Given the description of an element on the screen output the (x, y) to click on. 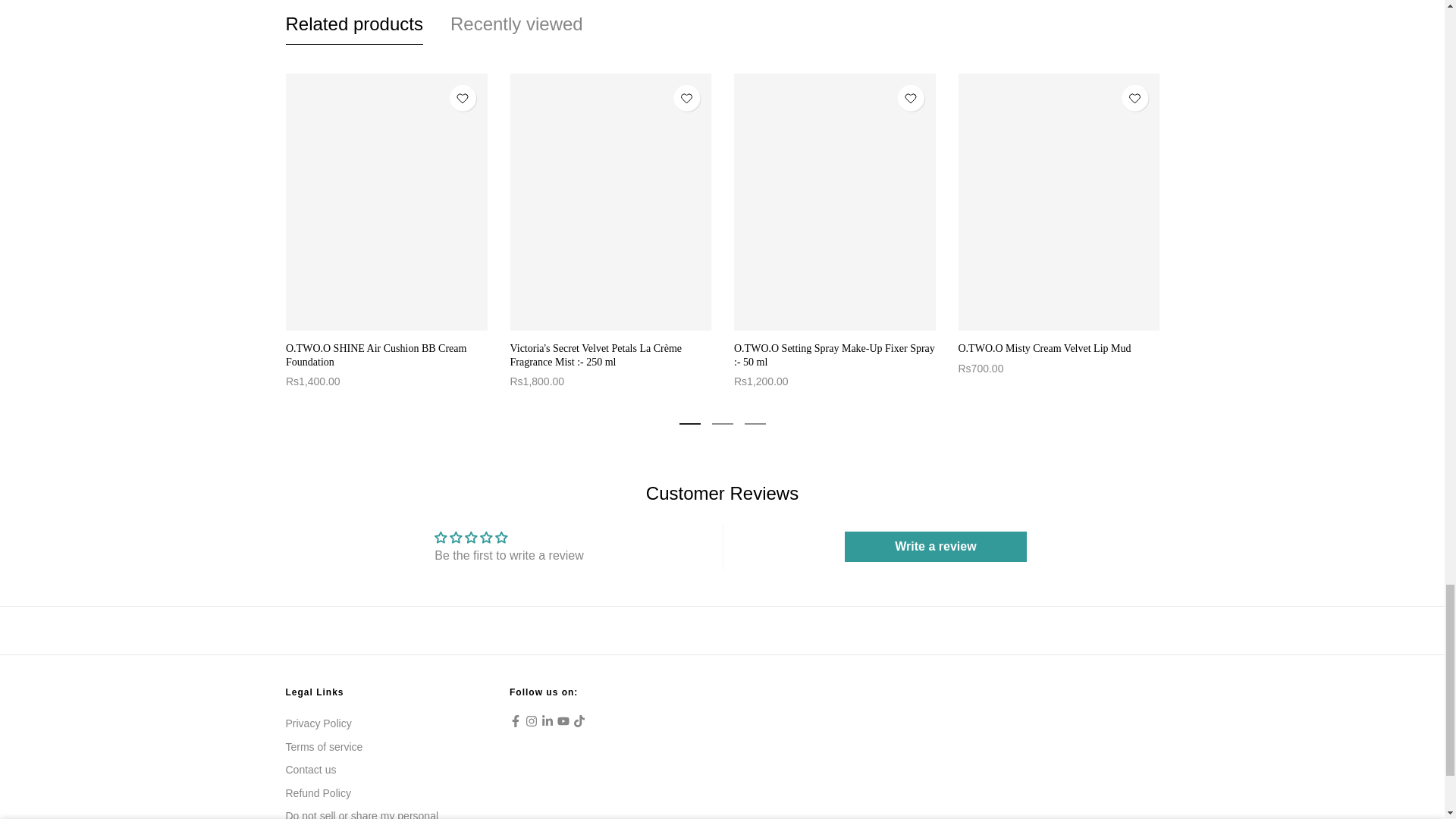
Follow on Facebook (515, 720)
Follow on YouTube (563, 720)
Follow on Linkedin (547, 720)
Follow on Instagram (531, 720)
Follow on Tiktok (579, 720)
